Given the description of an element on the screen output the (x, y) to click on. 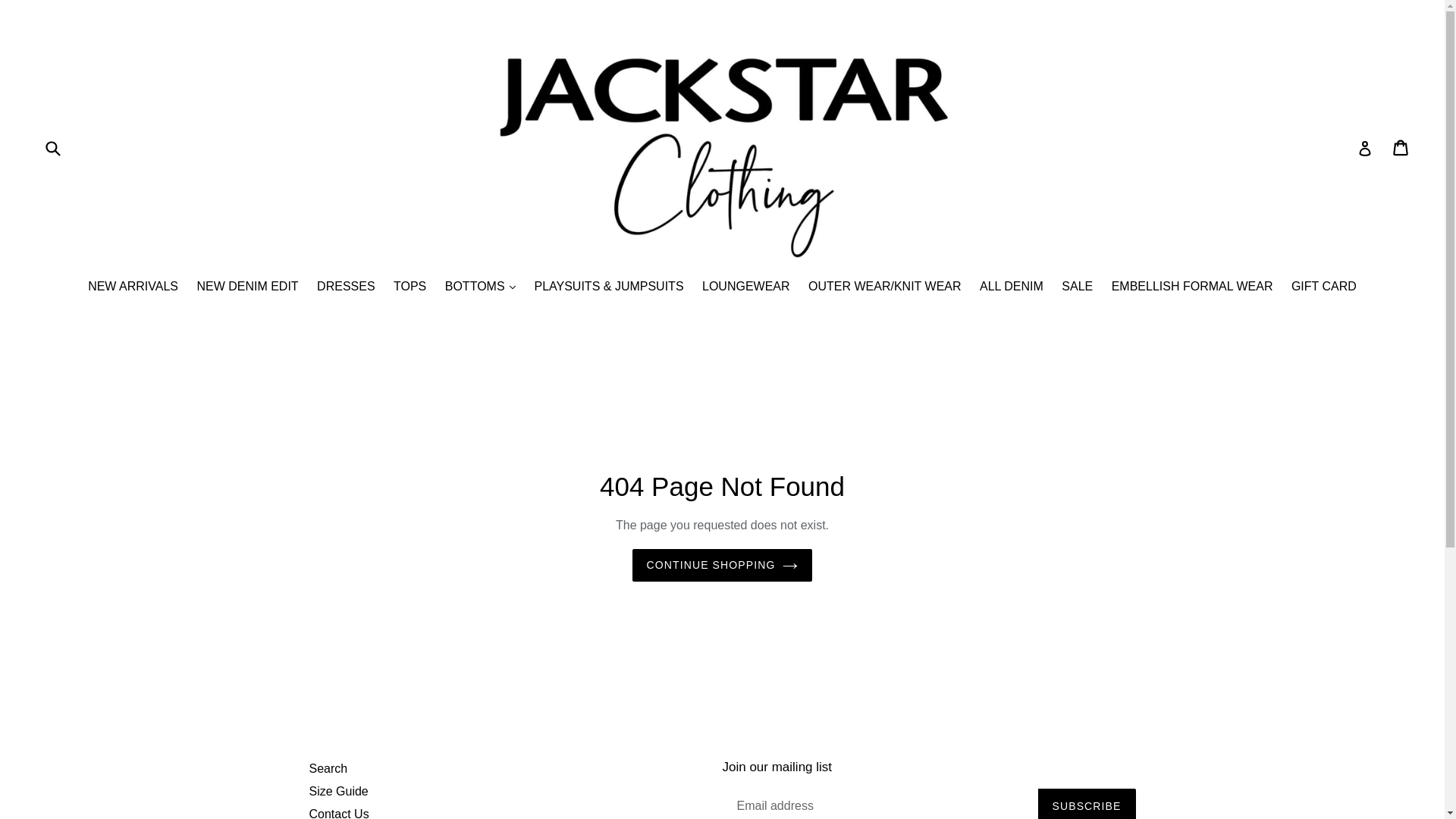
Search Element type: text (328, 768)
GIFT CARD Element type: text (1323, 287)
TOPS Element type: text (409, 287)
Submit Element type: text (51, 147)
ALL DENIM Element type: text (1011, 287)
Size Guide Element type: text (338, 790)
DRESSES Element type: text (345, 287)
CONTINUE SHOPPING Element type: text (722, 565)
Cart
Cart Element type: text (1401, 147)
NEW ARRIVALS Element type: text (132, 287)
NEW DENIM EDIT Element type: text (246, 287)
Log in Element type: text (1364, 147)
LOUNGEWEAR Element type: text (745, 287)
PLAYSUITS & JUMPSUITS Element type: text (608, 287)
EMBELLISH FORMAL WEAR Element type: text (1192, 287)
SALE Element type: text (1077, 287)
OUTER WEAR/KNIT WEAR Element type: text (884, 287)
